Given the description of an element on the screen output the (x, y) to click on. 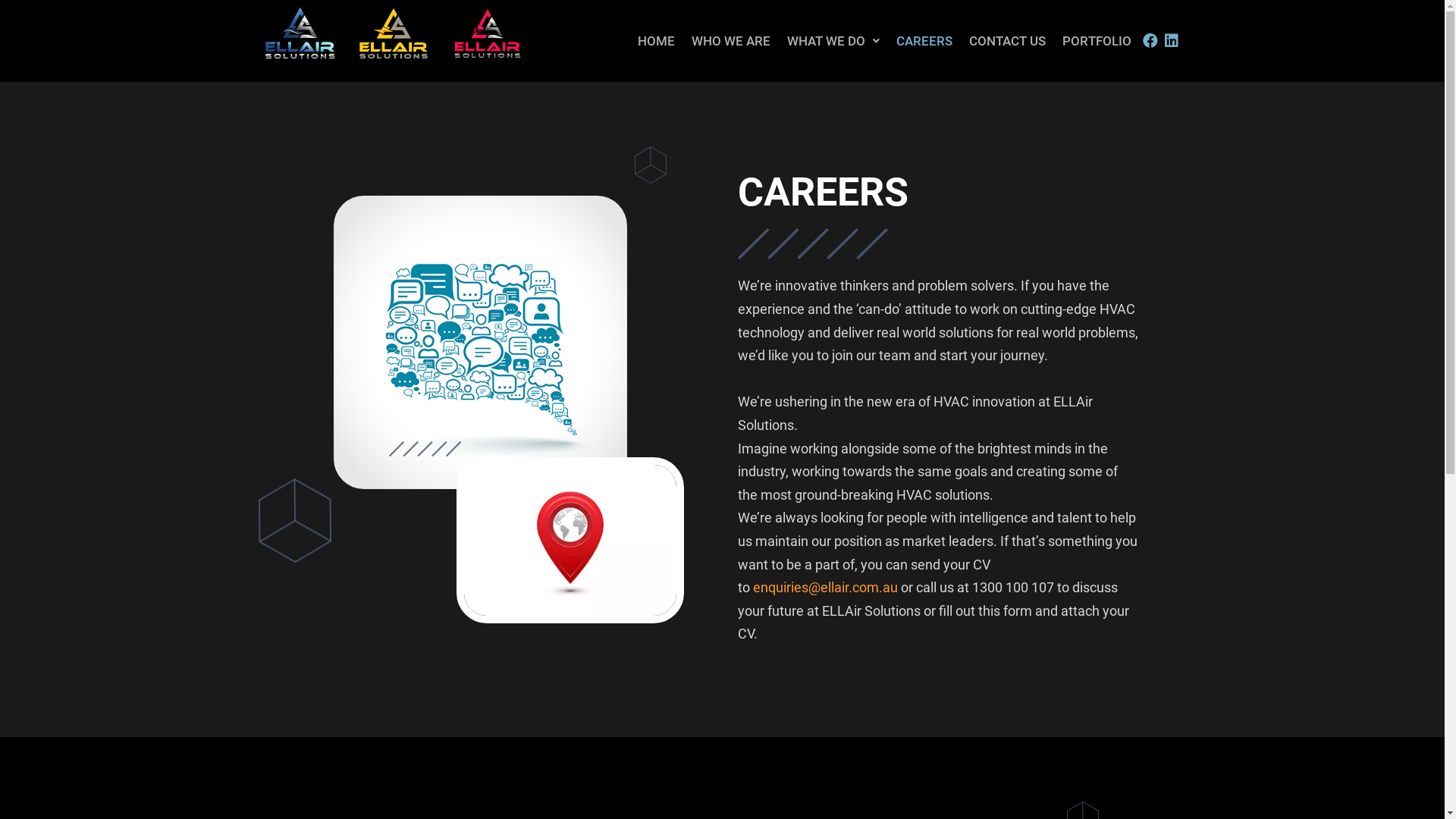
Untitled Element type: hover (487, 33)
CAREERS Element type: text (924, 41)
Untitled Element type: hover (299, 33)
CONTACT US Element type: text (1007, 41)
enquiries@ellair.com.au Element type: text (824, 587)
HOME Element type: text (656, 41)
PORTFOLIO Element type: text (1096, 41)
WHO WE ARE Element type: text (730, 41)
WHAT WE DO Element type: text (833, 41)
Untitled Element type: hover (393, 33)
